Given the description of an element on the screen output the (x, y) to click on. 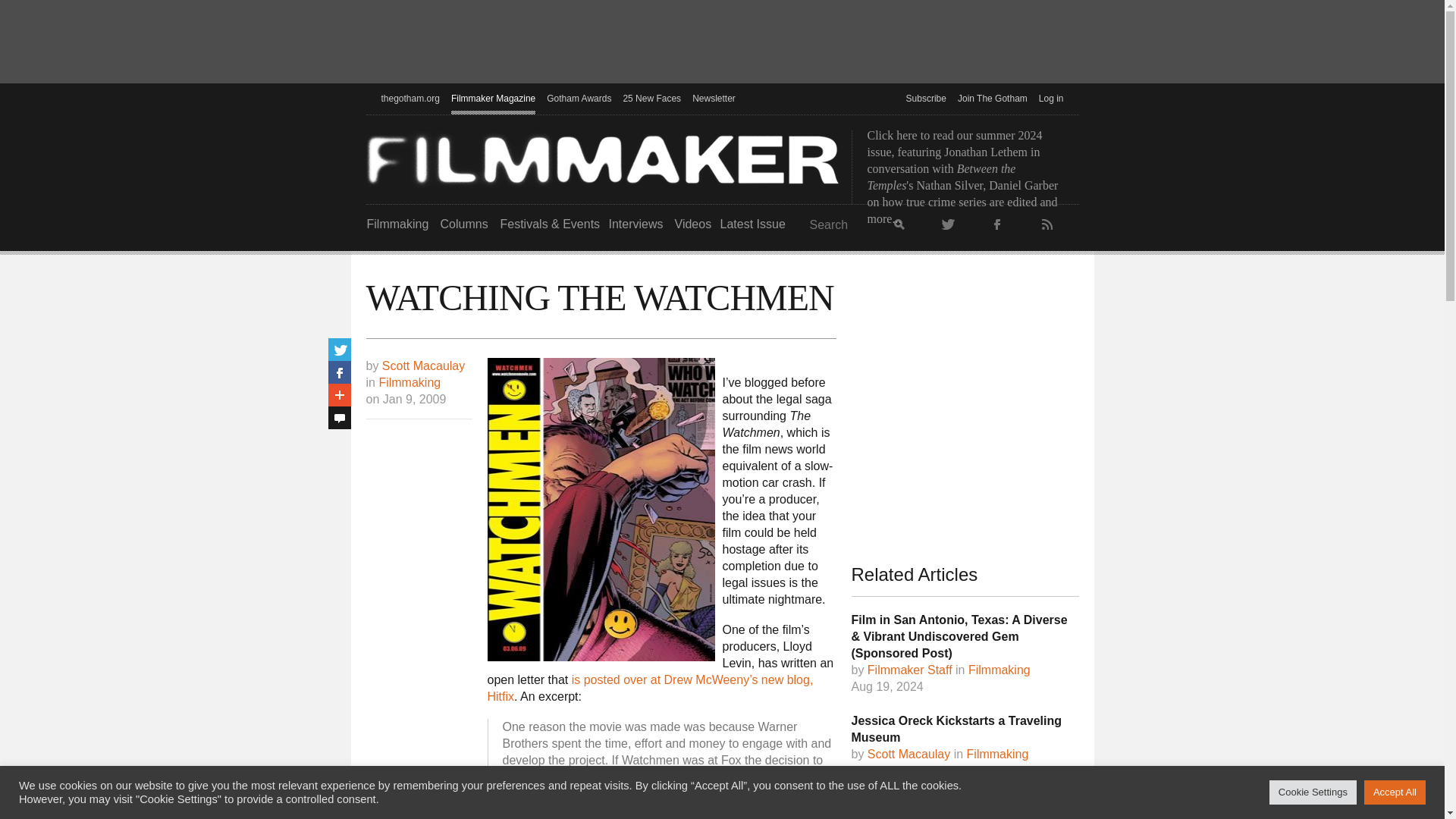
Filmmaker (602, 159)
Posts by Filmmaker Staff (909, 670)
Columns (463, 223)
Posts by Scott Macaulay (908, 754)
Posts by Scott Macaulay (422, 366)
Filmmaking (397, 223)
